Given the description of an element on the screen output the (x, y) to click on. 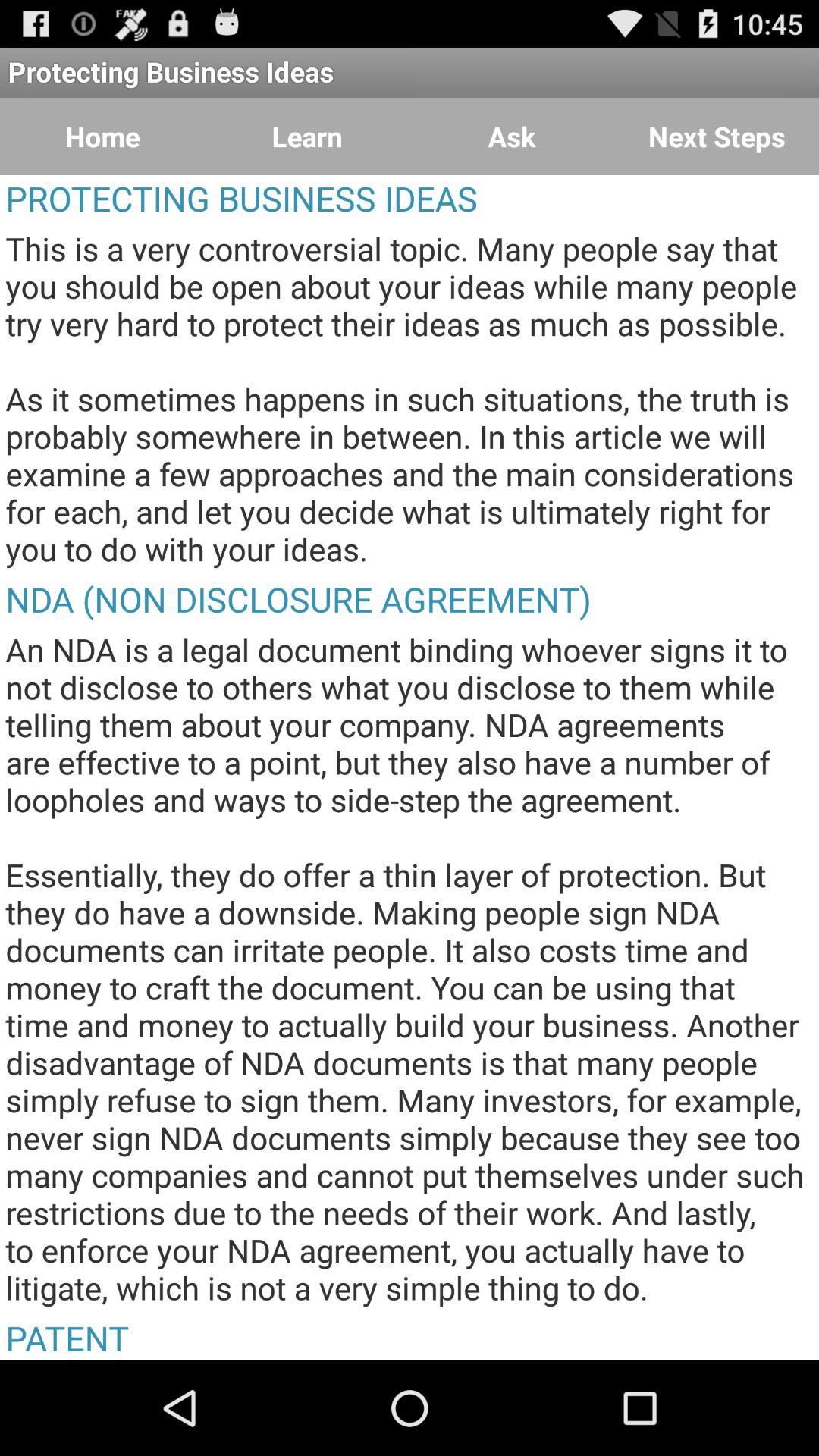
swipe to ask item (511, 136)
